Given the description of an element on the screen output the (x, y) to click on. 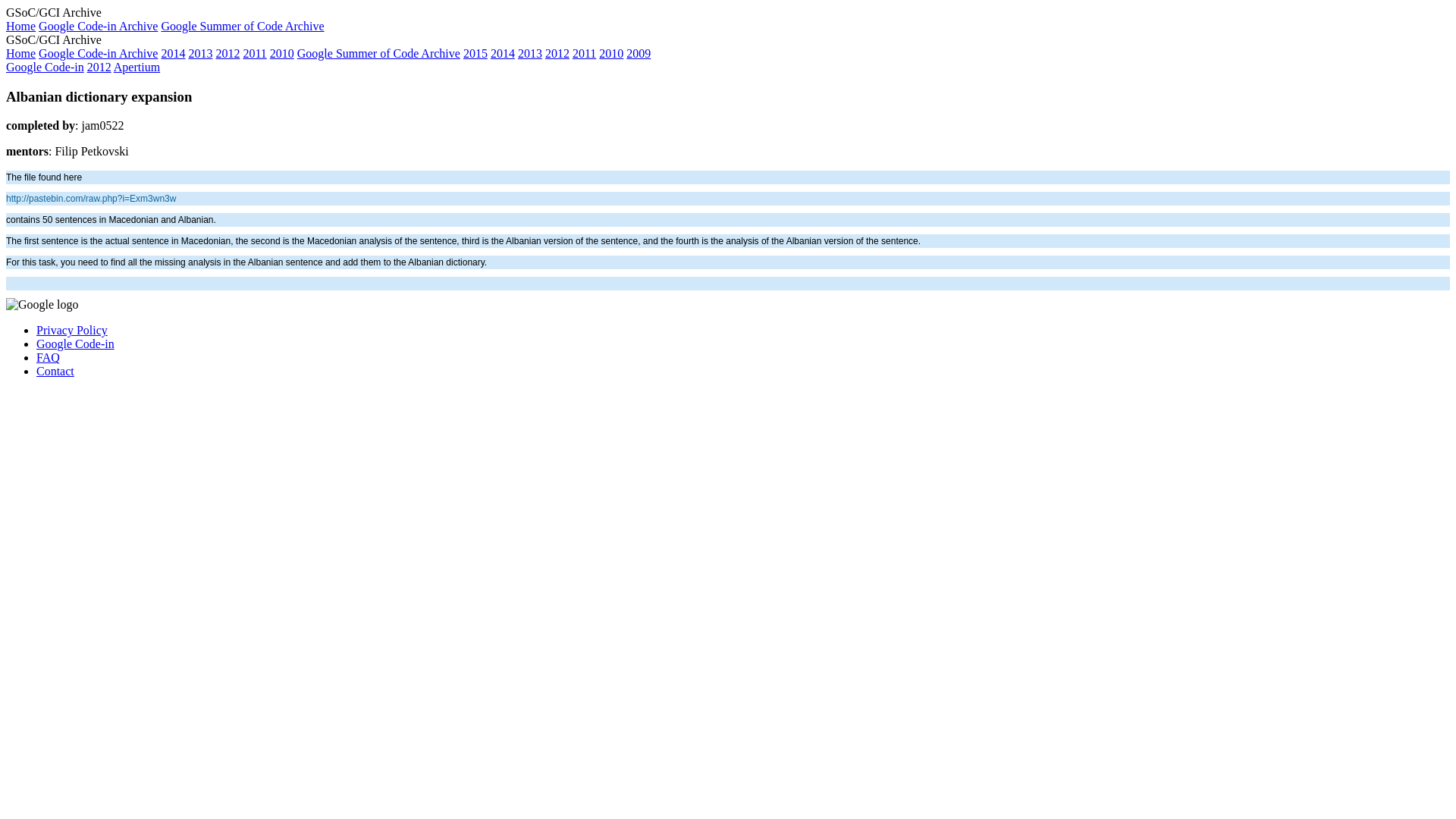
Google Code-in Archive (98, 25)
Home (19, 52)
2012 (99, 66)
2011 (583, 52)
Apertium (136, 66)
Home (19, 25)
2009 (638, 52)
Google Code-in (44, 66)
2013 (529, 52)
2012 (556, 52)
